Given the description of an element on the screen output the (x, y) to click on. 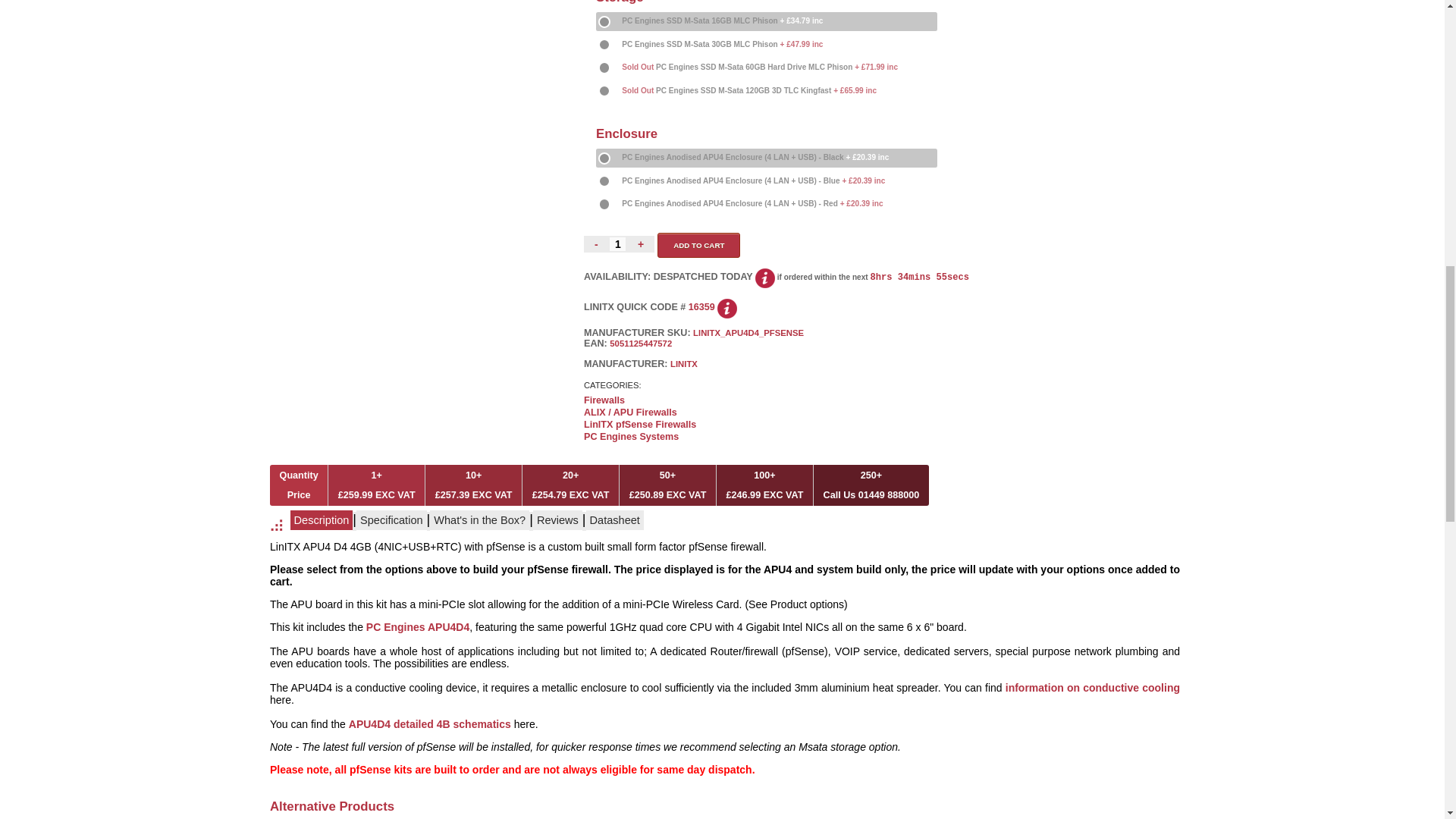
Add to Cart (698, 244)
1 (617, 243)
